Given the description of an element on the screen output the (x, y) to click on. 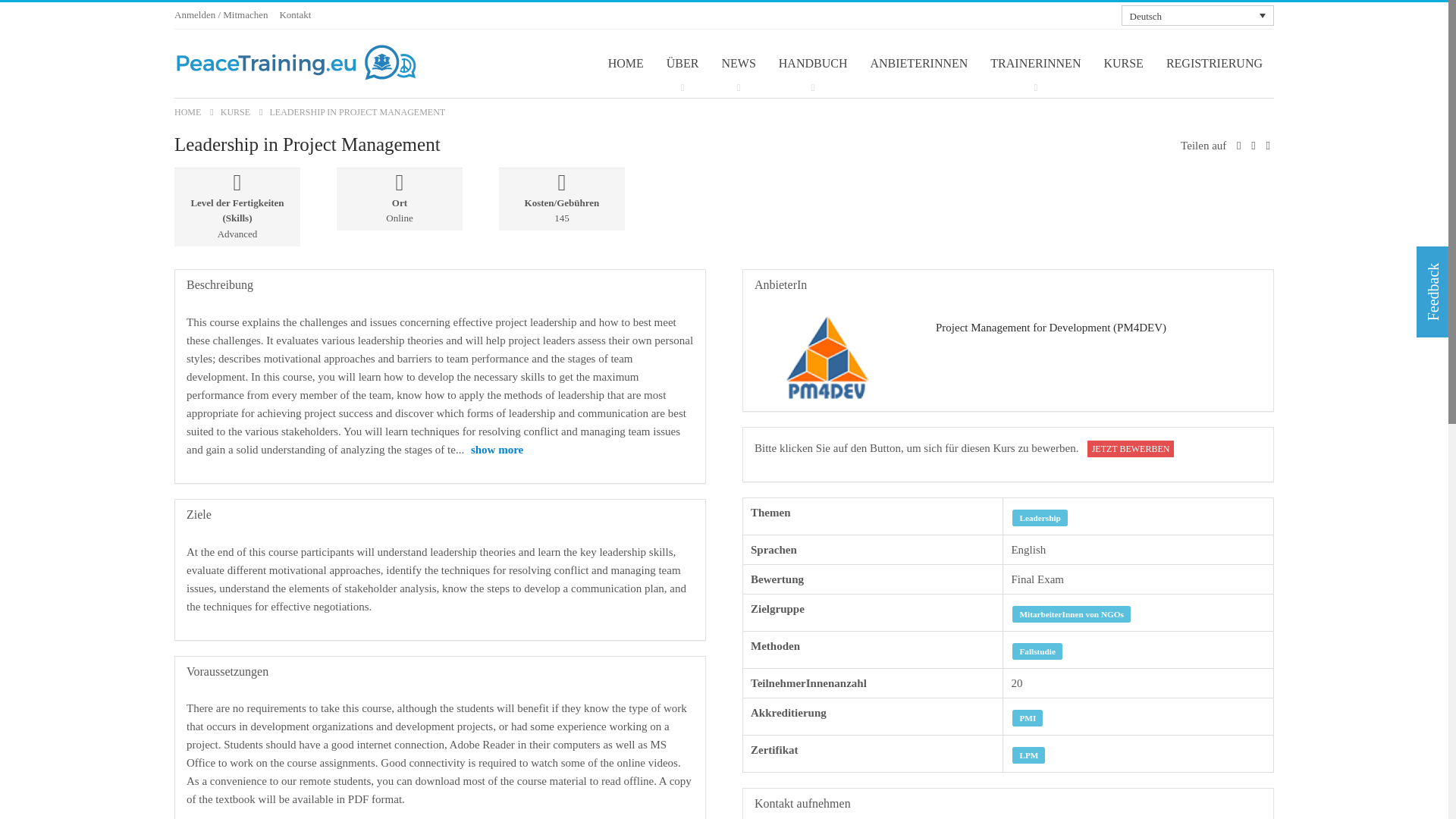
Deutsch (1197, 14)
Kontakt (295, 14)
145 (561, 217)
